Given the description of an element on the screen output the (x, y) to click on. 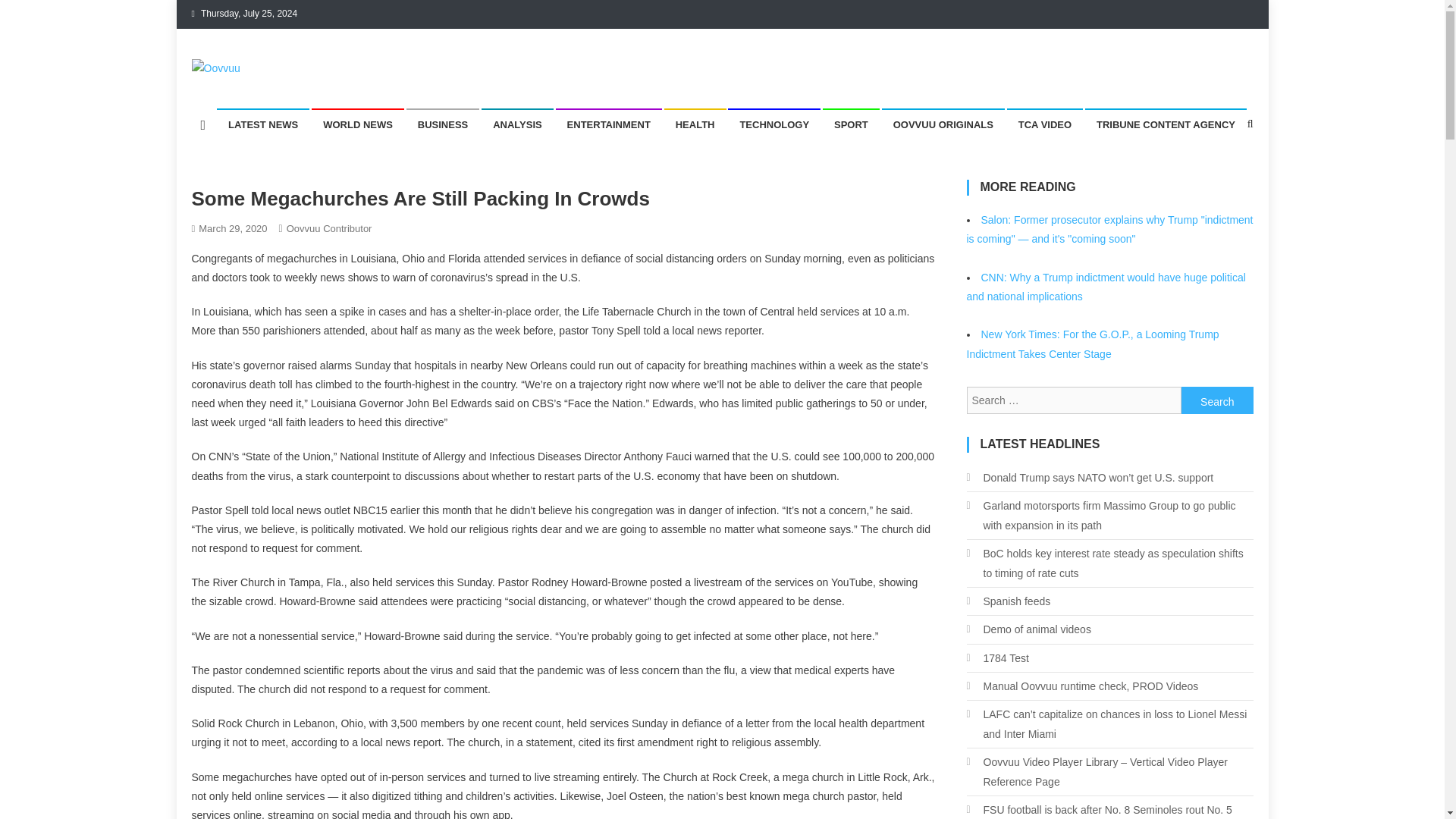
Oovvuu Contributor (329, 228)
TECHNOLOGY (774, 124)
BUSINESS (442, 124)
SPORT (850, 124)
Search (1216, 400)
Search (1216, 400)
Demo of animal videos (1028, 629)
Search (1221, 174)
ENTERTAINMENT (609, 124)
OOVVUU ORIGINALS (943, 124)
TRIBUNE CONTENT AGENCY (1165, 124)
1784 Test (996, 658)
